Given the description of an element on the screen output the (x, y) to click on. 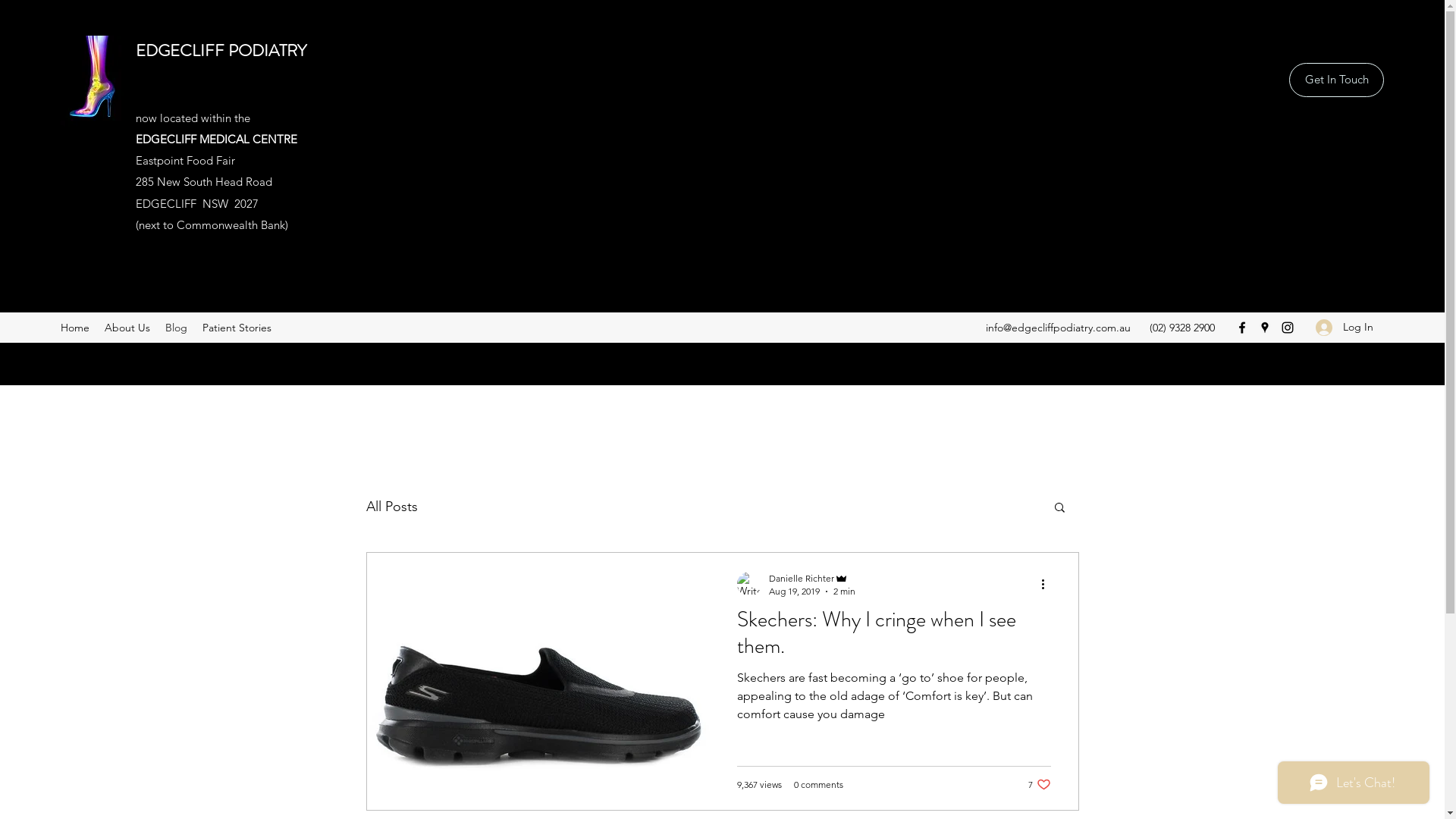
Skechers: Why I cringe when I see them. Element type: text (894, 636)
Patient Stories Element type: text (236, 327)
All Posts Element type: text (391, 506)
info@edgecliffpodiatry.com.au Element type: text (1057, 327)
About Us Element type: text (127, 327)
0 comments Element type: text (817, 784)
Log In Element type: text (1344, 327)
Get In Touch Element type: text (1336, 79)
Blog Element type: text (175, 327)
Home Element type: text (75, 327)
Danielle Richter Element type: text (811, 578)
7 likes. Post not marked as liked
7 Element type: text (1039, 784)
